Given the description of an element on the screen output the (x, y) to click on. 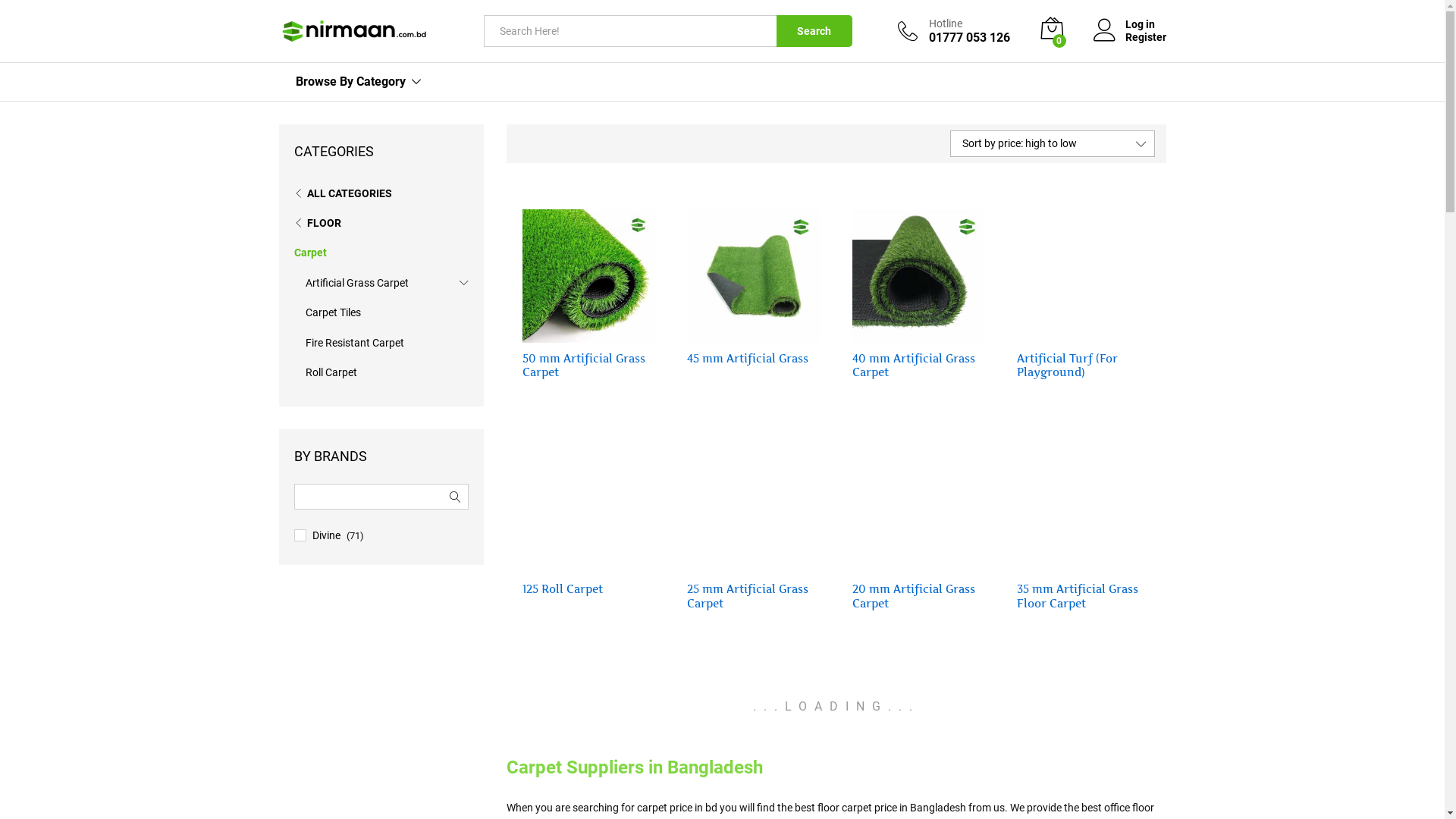
...LOADING... Element type: text (836, 706)
ALL CATEGORIES Element type: text (343, 193)
Carpet Tiles Element type: text (332, 312)
Log in Element type: text (1129, 24)
25 mm Artificial Grass Carpet Element type: text (753, 595)
45 mm Artificial Grass Element type: text (747, 358)
Artificial Turf (For Playground) Element type: text (1083, 365)
35 mm Artificial Grass Floor Carpet Element type: text (1083, 595)
Carpet Element type: text (310, 252)
Register Element type: text (1129, 37)
Hotline
01777 053 126 Element type: text (953, 30)
20 mm Artificial Grass Carpet Element type: text (918, 595)
Sort by price: low to high Element type: text (1109, 226)
Search Element type: text (814, 31)
125 Roll Carpet Element type: text (561, 589)
40 mm Artificial Grass Carpet Element type: text (918, 365)
FLOOR Element type: text (317, 222)
Divine Element type: text (326, 535)
Sort by latest Element type: text (1083, 226)
Sort by popularity Element type: text (1093, 226)
Roll Carpet Element type: text (330, 372)
Sort by average rating Element type: text (1104, 226)
50 mm Artificial Grass Carpet Element type: text (588, 365)
0 Element type: text (1051, 30)
Fire Resistant Carpet Element type: text (353, 342)
Artificial Grass Carpet Element type: text (355, 282)
